Given the description of an element on the screen output the (x, y) to click on. 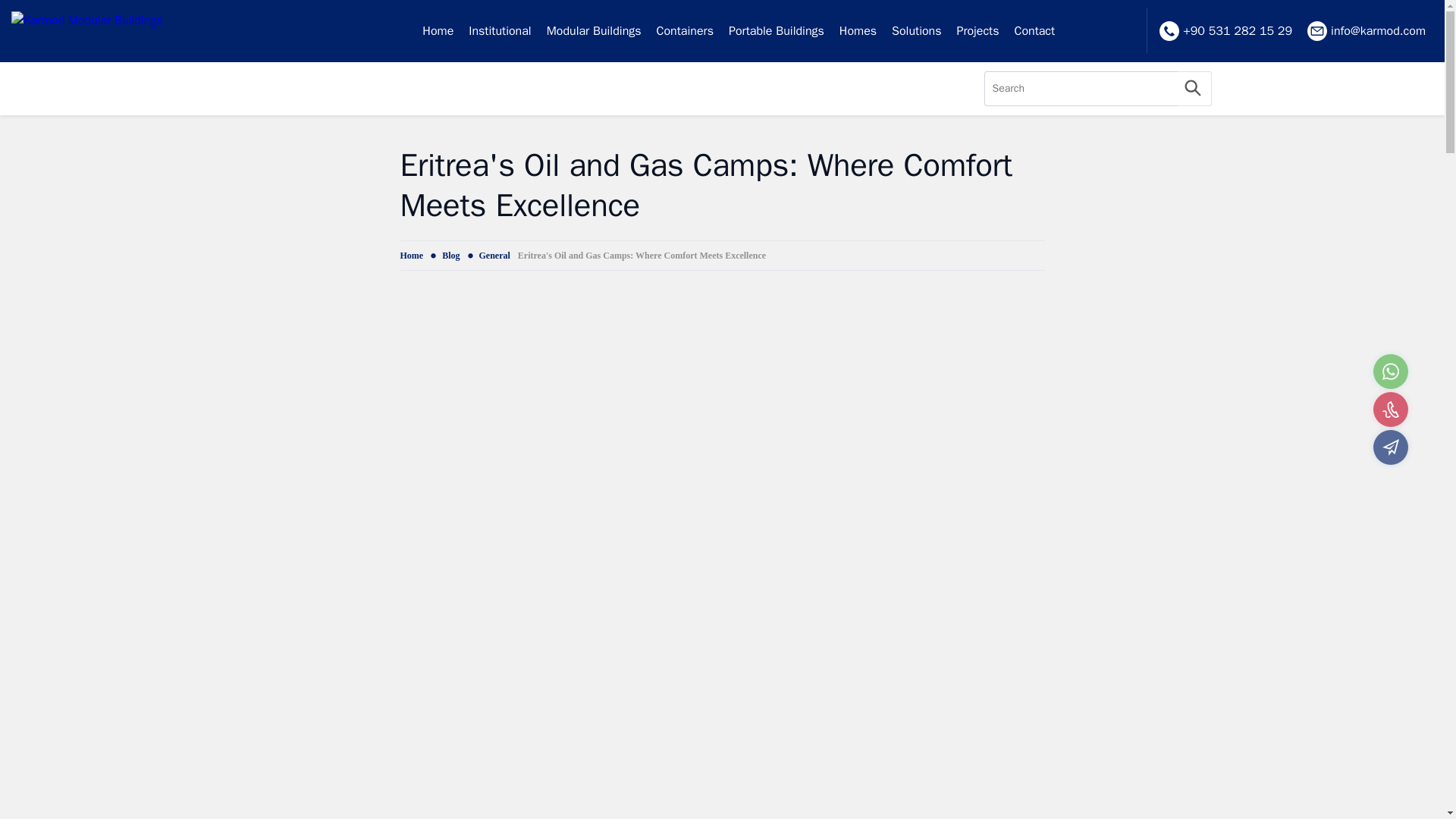
Email (1390, 447)
Containers (684, 31)
Modular Buildings (593, 31)
Call Us (1390, 409)
Institutional (499, 31)
Whatsapp (1390, 371)
Portable Buildings (775, 31)
